Given the description of an element on the screen output the (x, y) to click on. 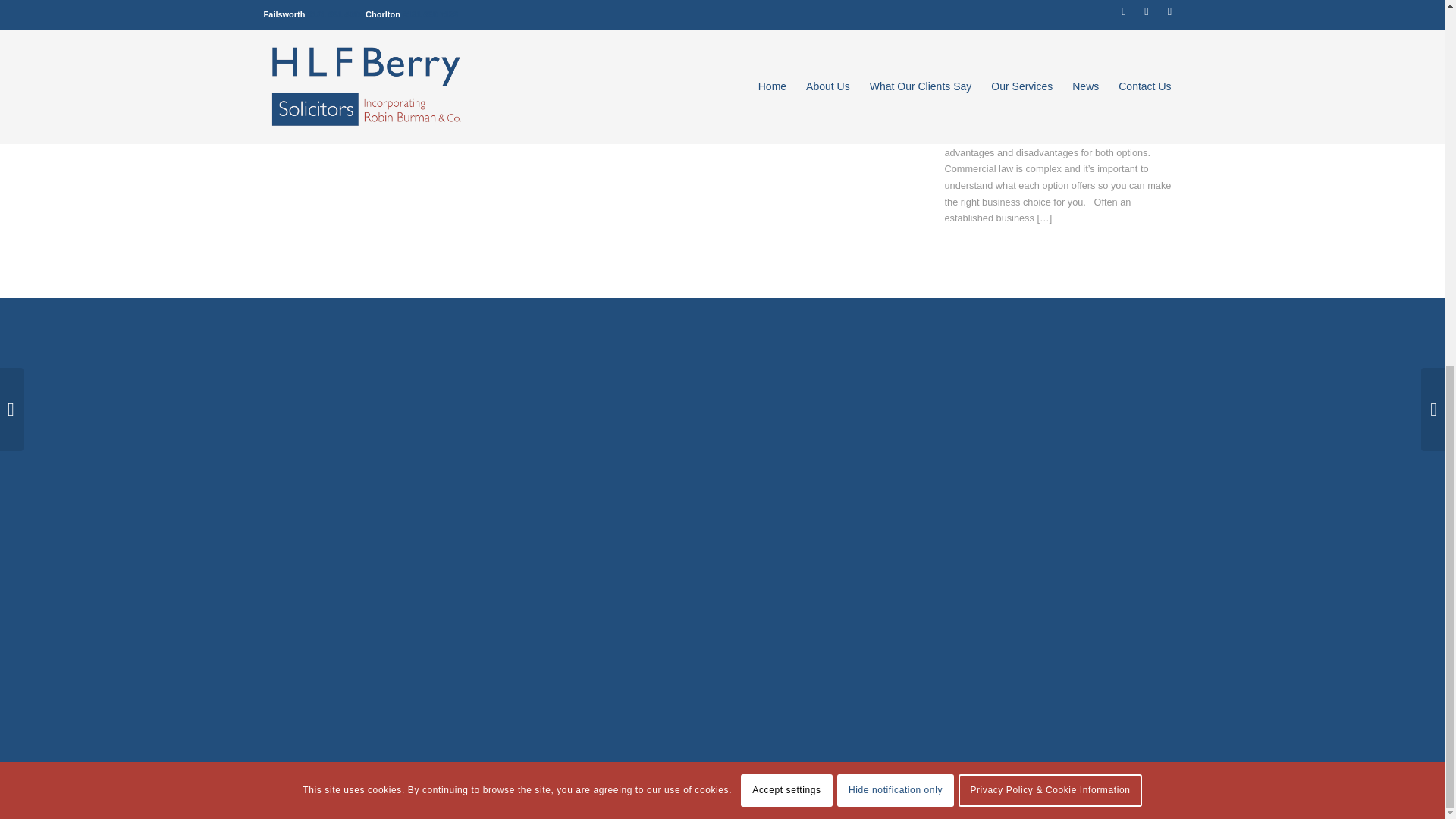
What Do I Need To Consider When Buying A Business? (1075, 70)
Read: What Do I Need To Consider When Buying A Business? (1075, 70)
Read: What Do I Need To Consider When Buying A Business? (958, 69)
